Given the description of an element on the screen output the (x, y) to click on. 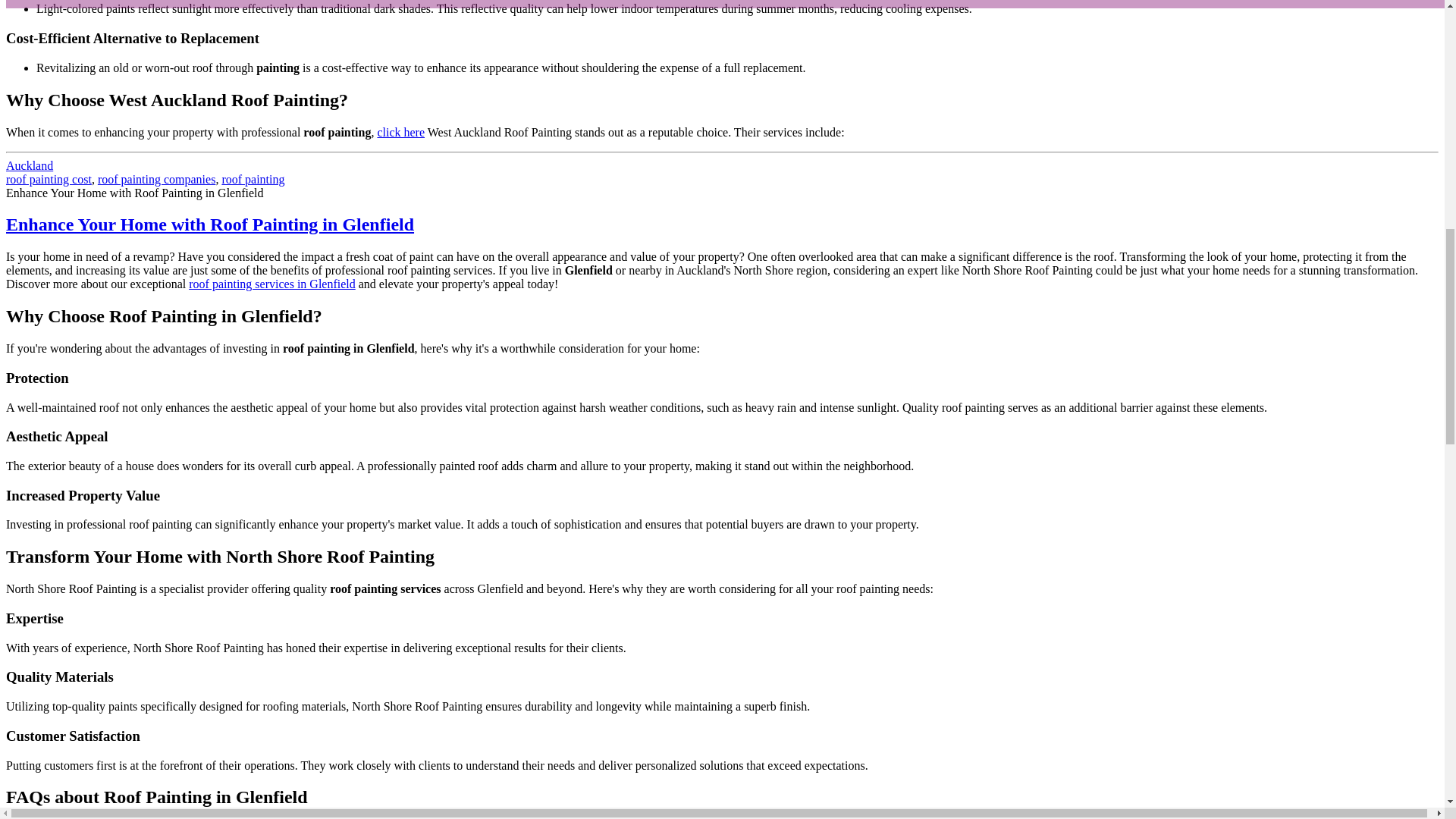
Enhance Your Home with Roof Painting in Glenfield (209, 224)
Auckland (28, 164)
roof painting (252, 178)
roof painting services in Glenfield (272, 283)
roof painting companies (156, 178)
roof painting cost (48, 178)
click here (401, 132)
